Given the description of an element on the screen output the (x, y) to click on. 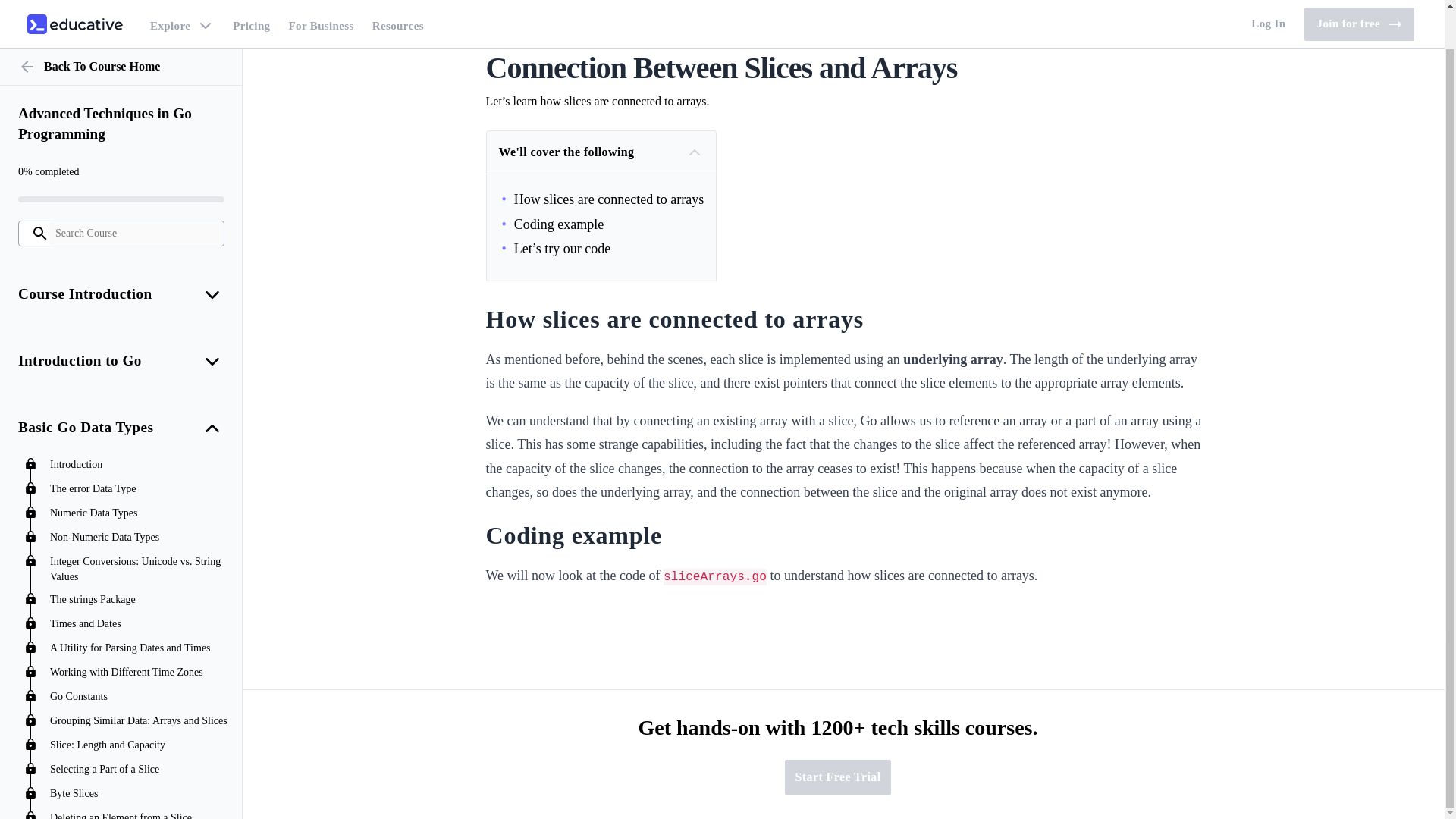
Log In (1268, 3)
Explore (182, 3)
Pricing (251, 3)
Back To Course Home (121, 25)
For Business (320, 3)
Resources (397, 3)
Advanced Techniques in Go Programming (121, 83)
